Given the description of an element on the screen output the (x, y) to click on. 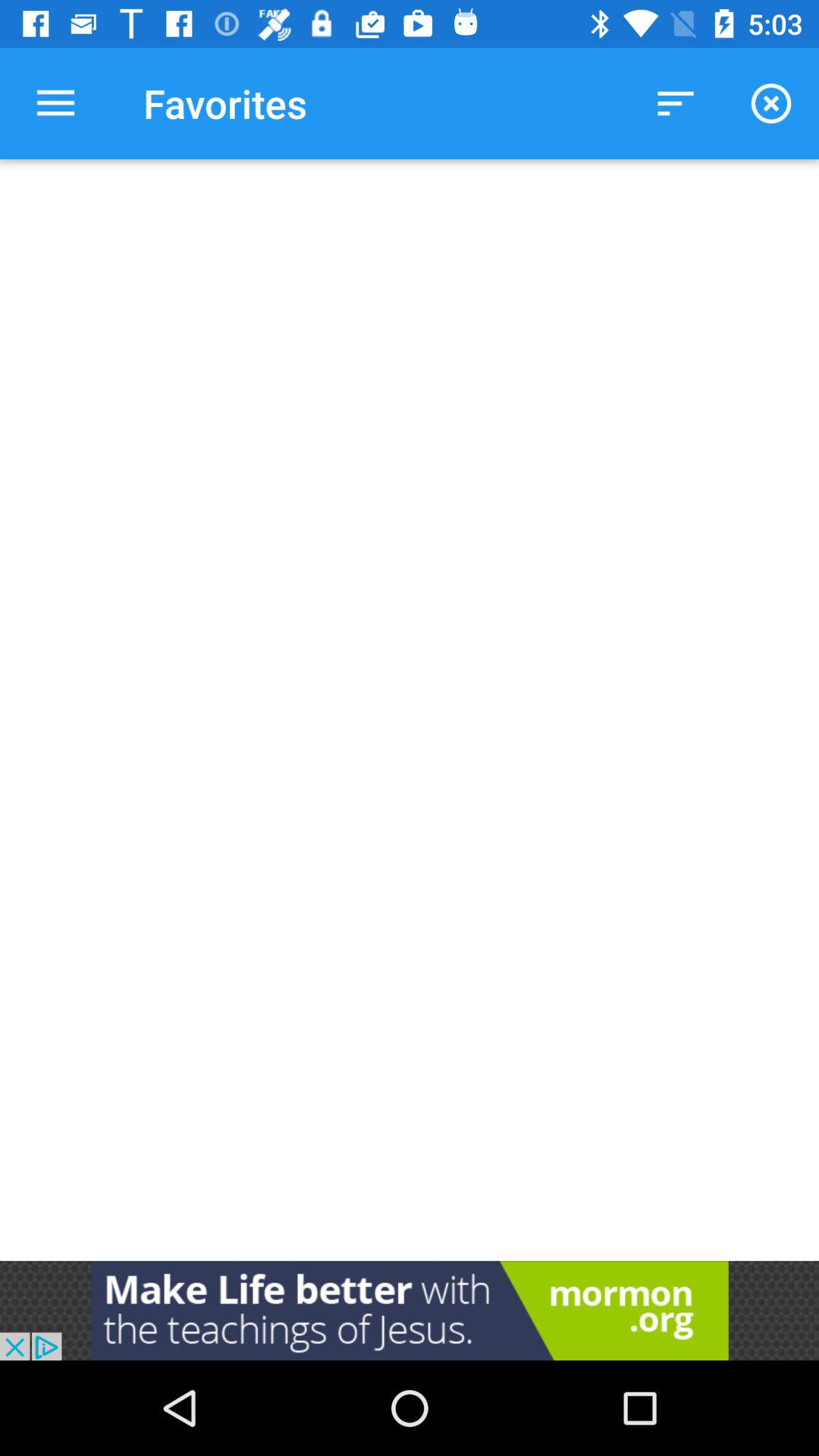
go to mormon.org advertisement (409, 1310)
